Given the description of an element on the screen output the (x, y) to click on. 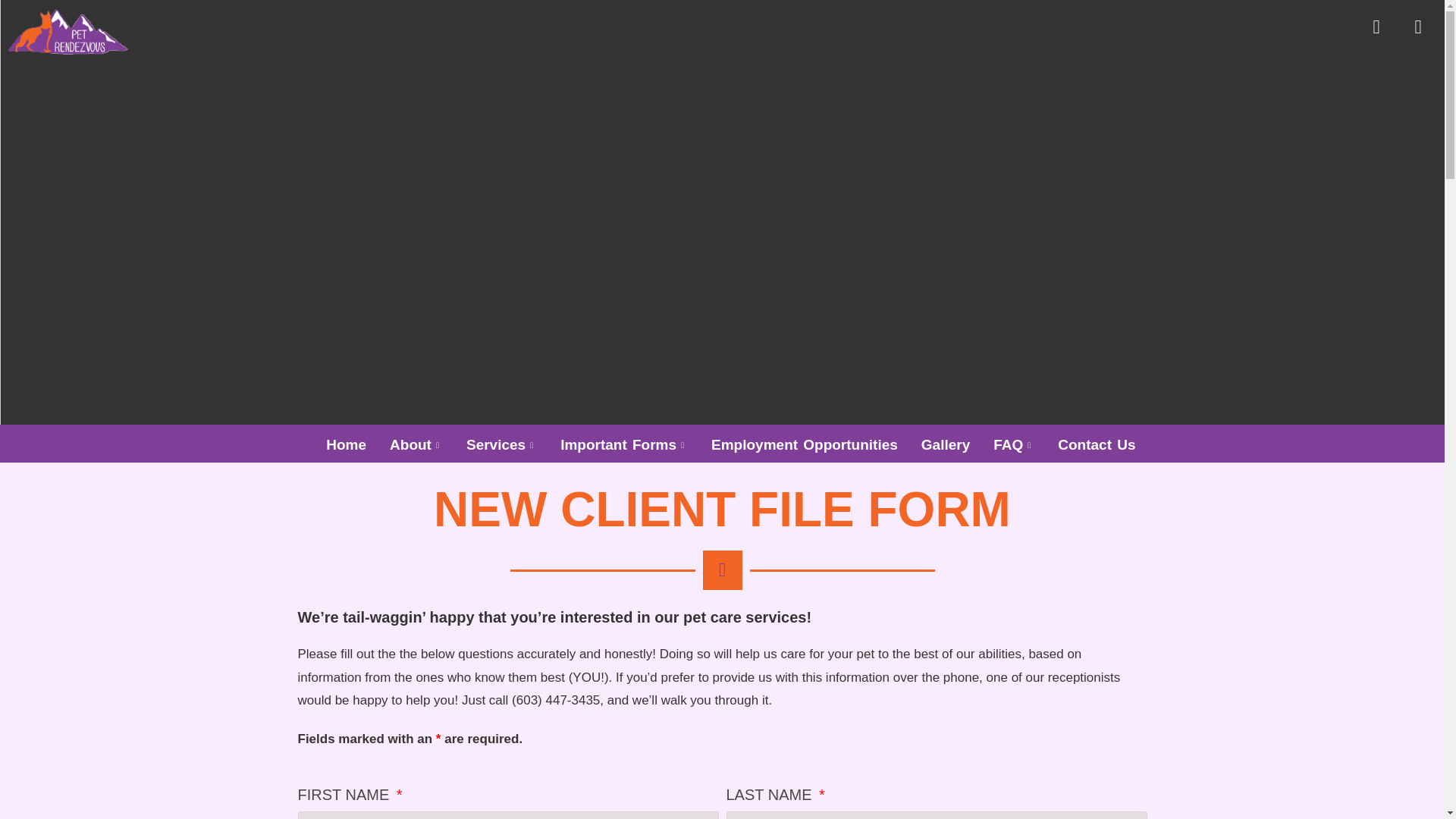
Home (345, 444)
Important Forms (623, 444)
Services (501, 444)
Employment Opportunities (804, 444)
Gallery (945, 444)
Contact Us (1096, 444)
FAQ (1013, 444)
About (416, 444)
